Given the description of an element on the screen output the (x, y) to click on. 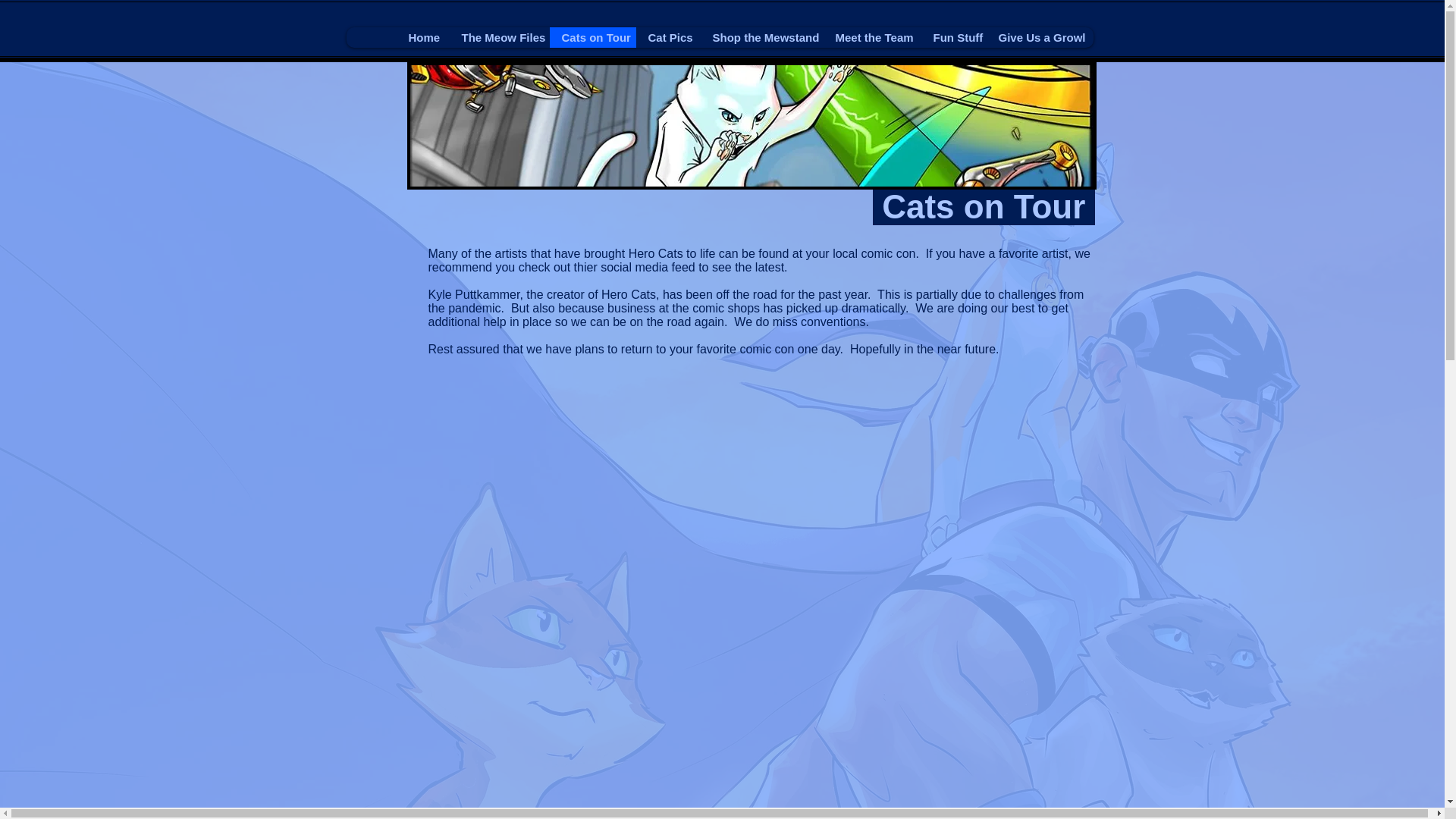
Meet the Team (872, 37)
Fun Stuff (952, 37)
Shop the Mewstand (762, 37)
crop-ace.jpg (751, 125)
Give Us a Growl (1039, 37)
The Meow Files (498, 37)
Cat Pics (667, 37)
Cats on Tour (591, 37)
Home (422, 37)
